Given the description of an element on the screen output the (x, y) to click on. 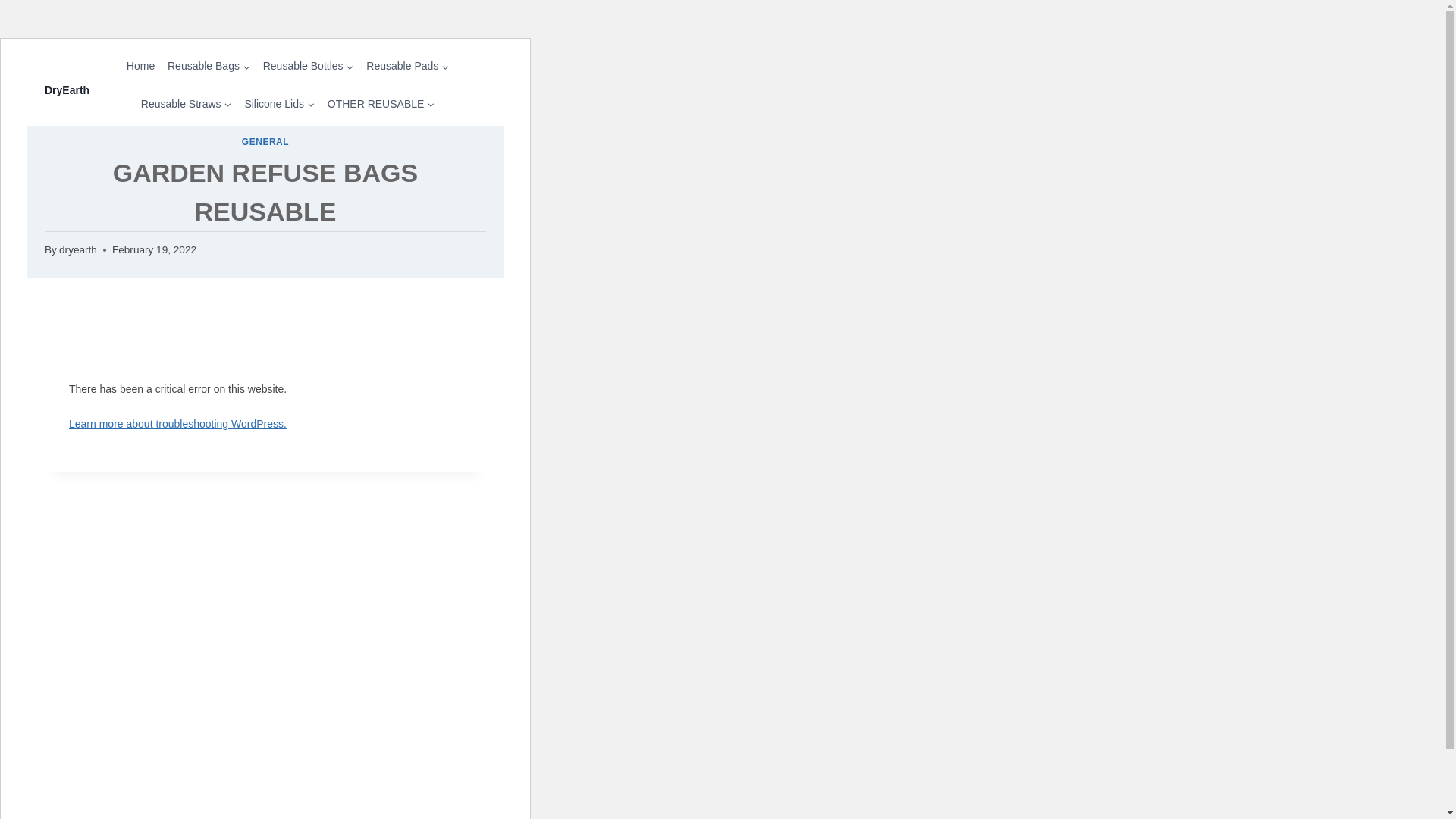
Reusable Bags (209, 66)
Reusable Bottles (307, 66)
Reusable Pads (407, 66)
OTHER REUSABLE (380, 102)
GENERAL (264, 141)
Reusable Straws (185, 102)
Home (139, 66)
Silicone Lids (279, 102)
